Given the description of an element on the screen output the (x, y) to click on. 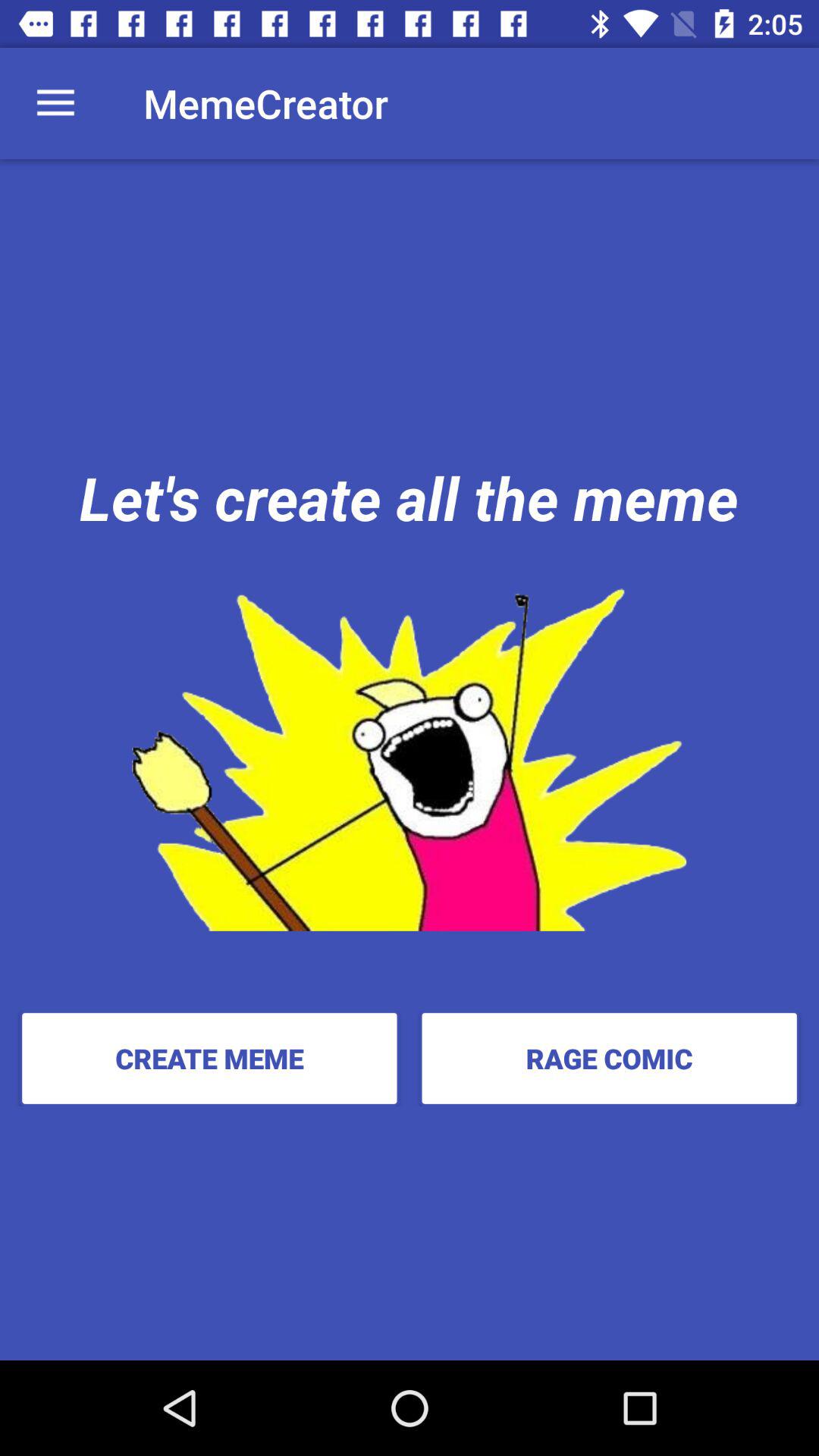
flip until the rage comic (609, 1058)
